Given the description of an element on the screen output the (x, y) to click on. 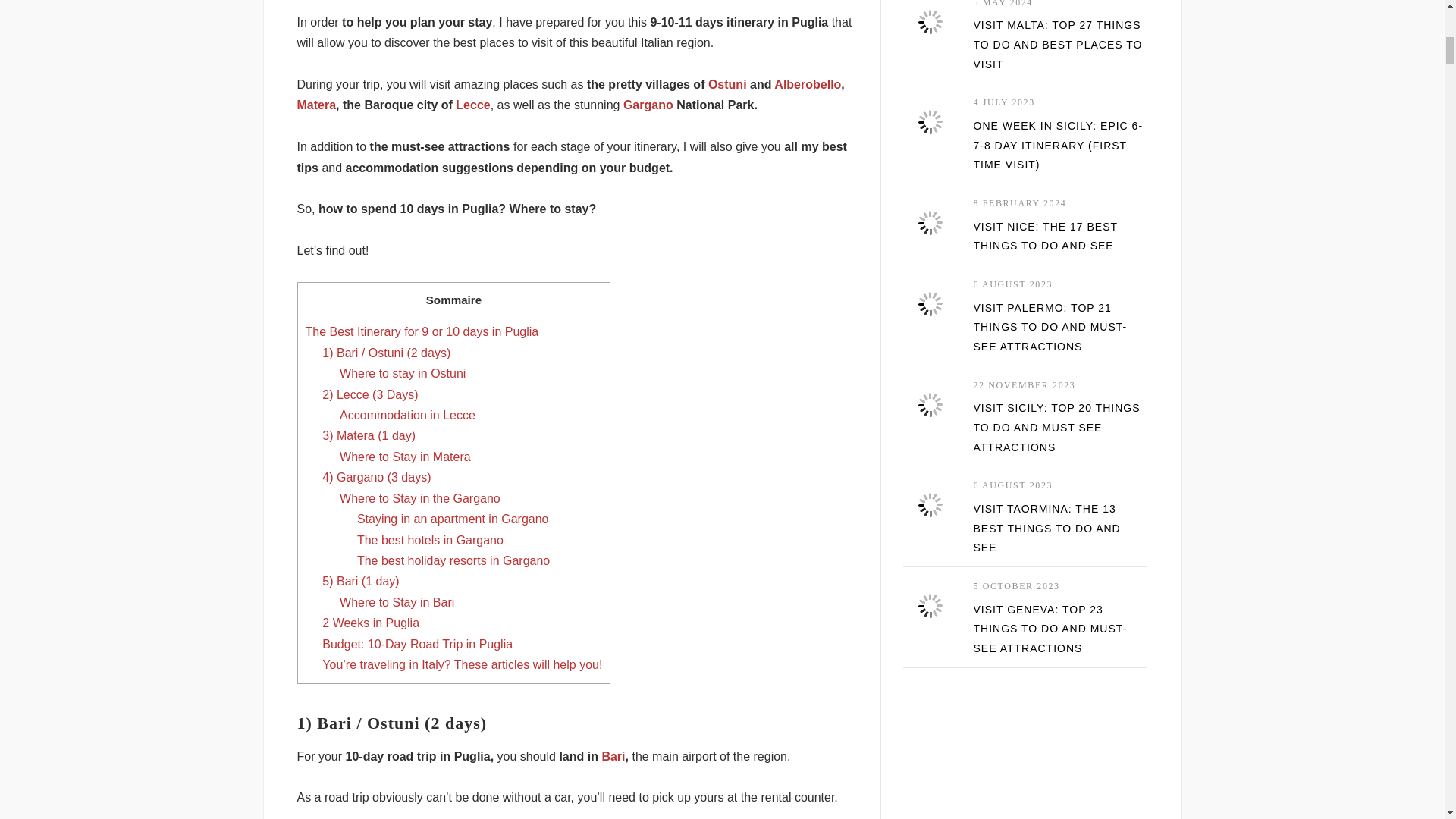
Where to Stay in the Gargano (419, 498)
Matera (316, 104)
Alberobello (807, 83)
Ostuni (726, 83)
Ostuni (726, 83)
Bari (612, 756)
The best holiday resorts in Gargano (453, 560)
Accommodation in Lecce (407, 414)
Gargano (647, 104)
The best hotels in Gargano (429, 540)
